Given the description of an element on the screen output the (x, y) to click on. 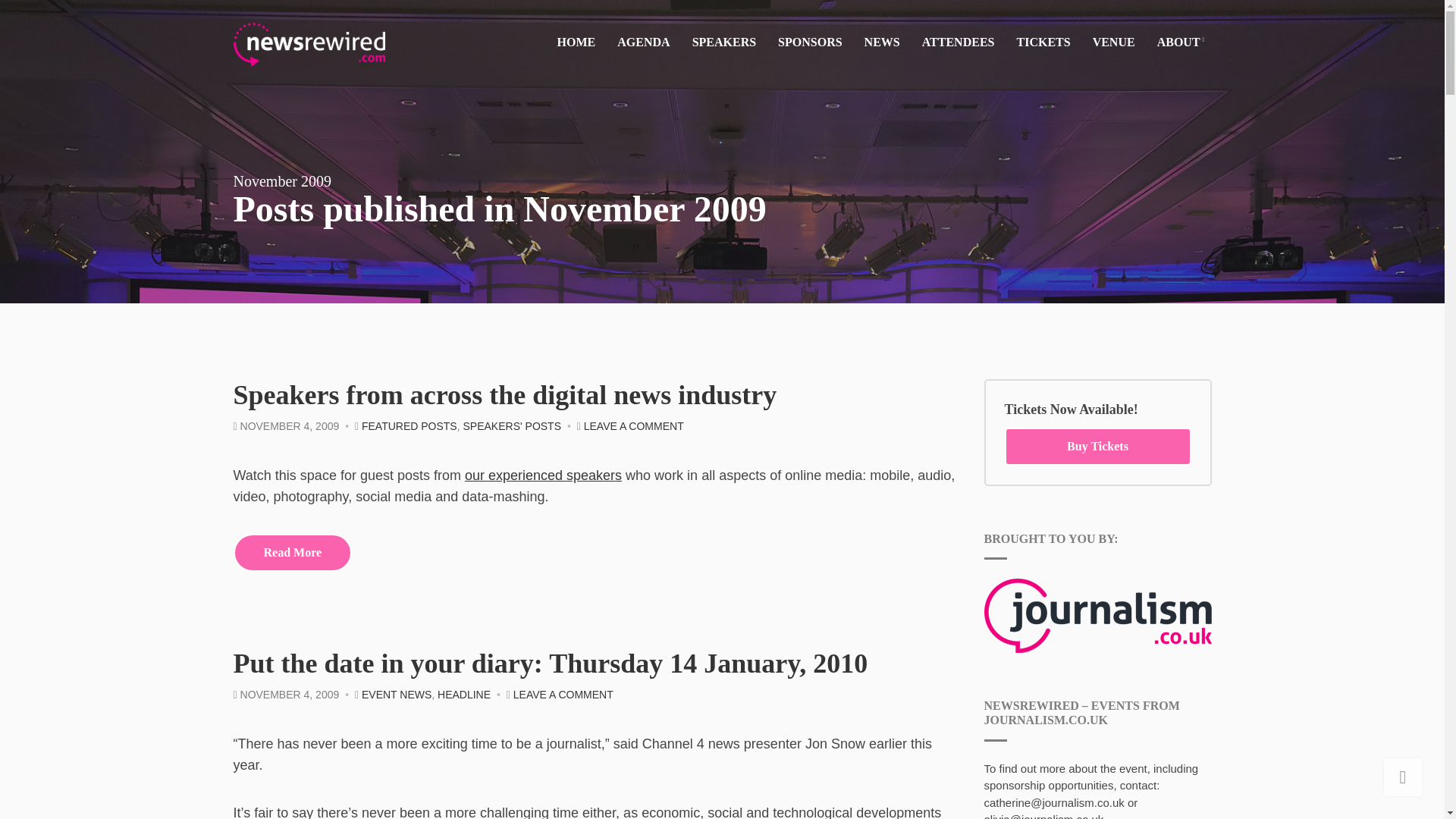
AGENDA (643, 41)
VENUE (1114, 41)
Speakers from across the digital news industry (504, 395)
ATTENDEES (957, 41)
SPONSORS (809, 41)
our experienced speakers (542, 475)
ABOUT (1179, 44)
SPEAKERS (724, 41)
FEATURED POSTS (409, 426)
